Given the description of an element on the screen output the (x, y) to click on. 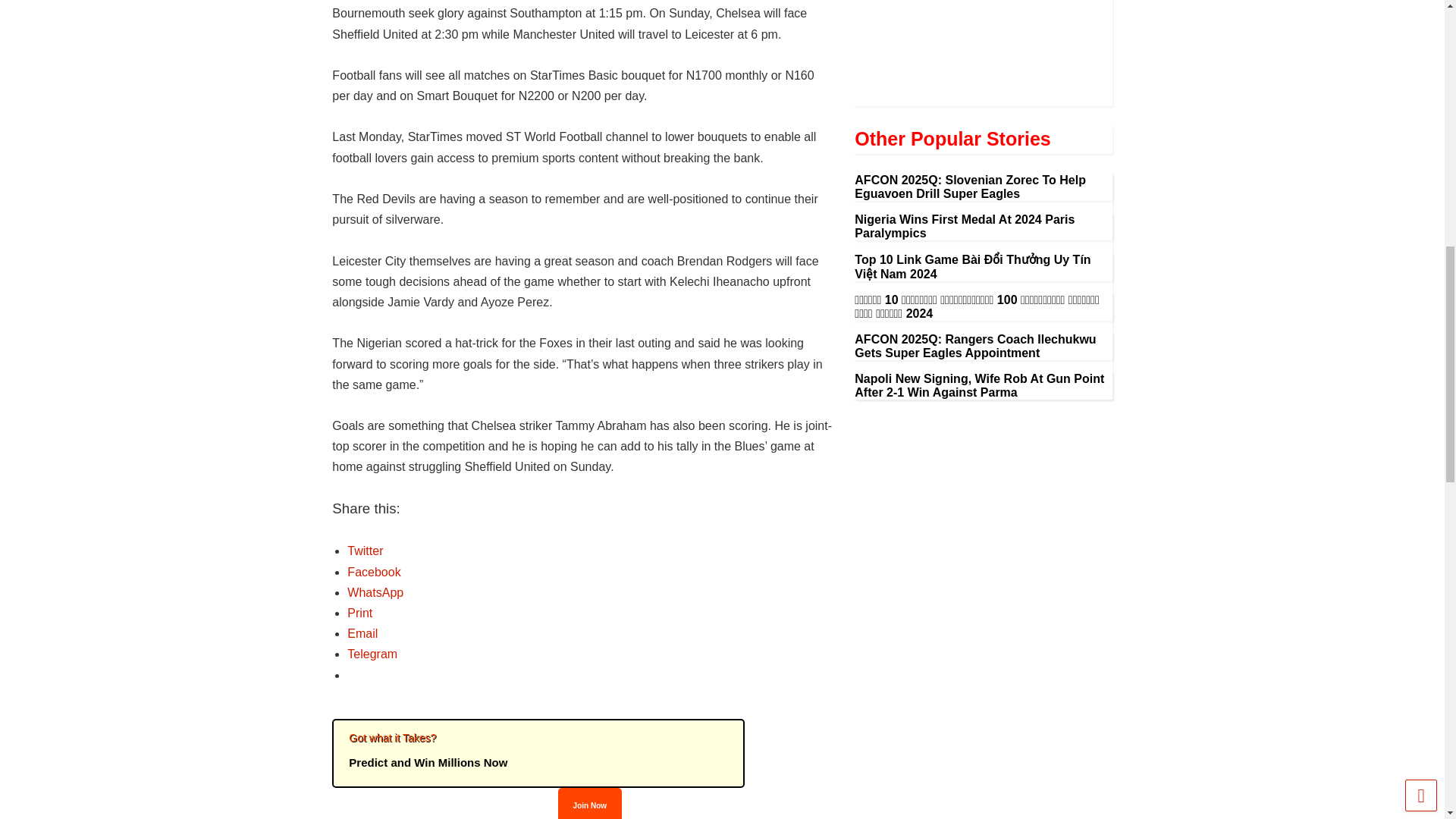
Click to email a link to a friend (362, 633)
Click to print (359, 612)
Click to share on Facebook (373, 571)
Click to share on Telegram (372, 653)
Click to share on Twitter (364, 550)
Click to share on WhatsApp (375, 592)
